Given the description of an element on the screen output the (x, y) to click on. 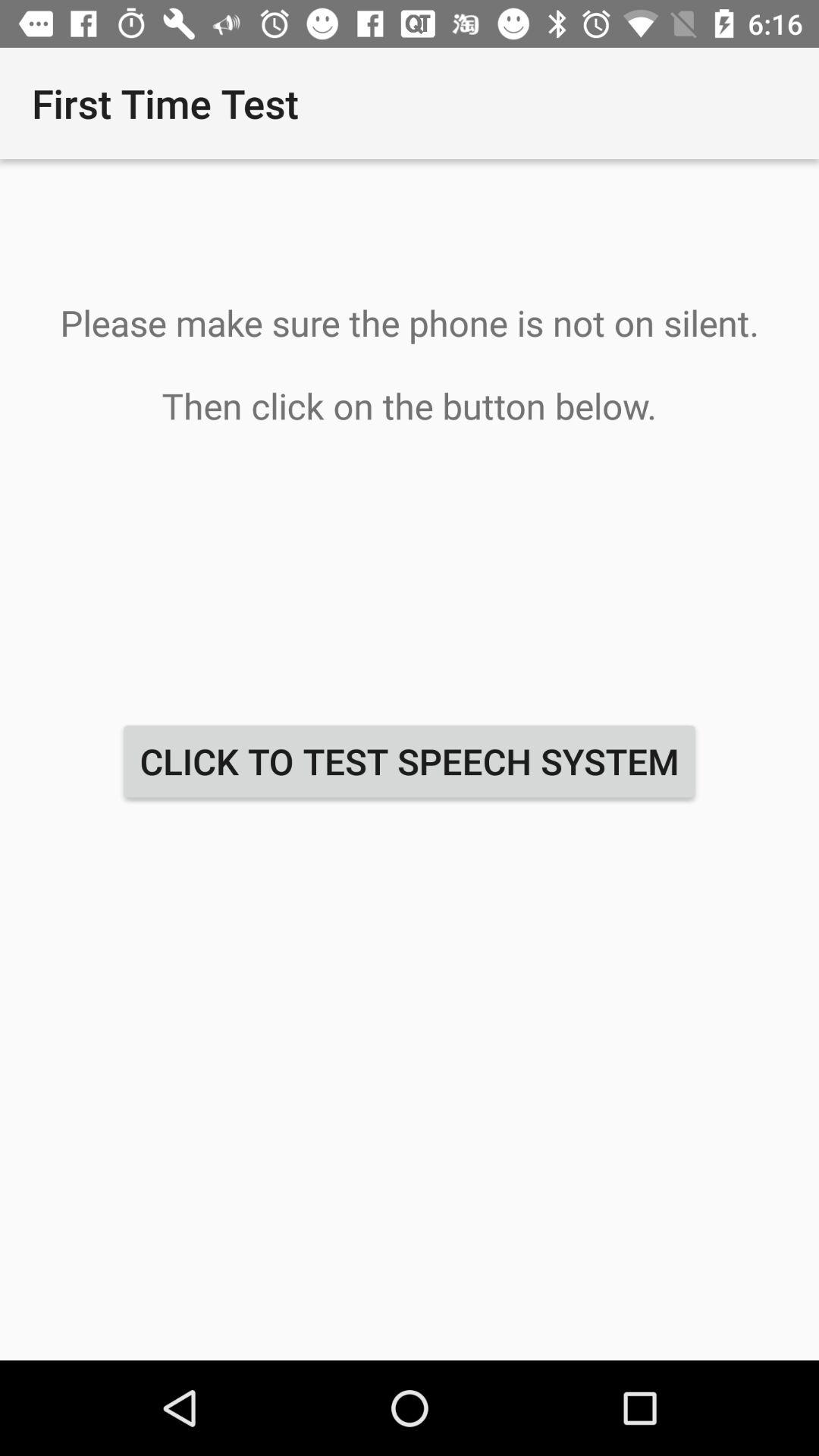
jump until click to test item (409, 761)
